Given the description of an element on the screen output the (x, y) to click on. 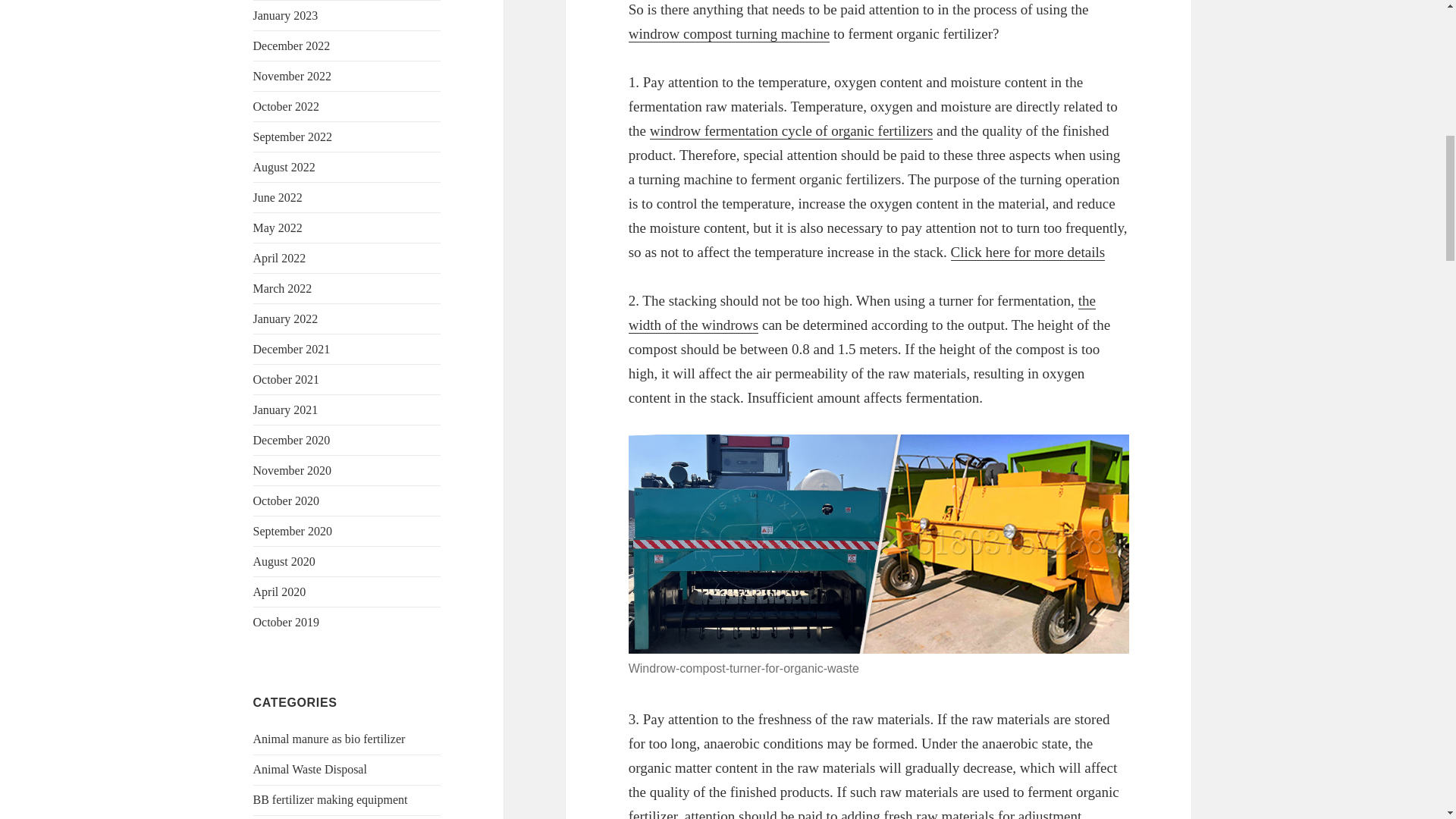
December 2022 (291, 45)
December 2021 (291, 349)
January 2023 (285, 15)
January 2021 (285, 409)
December 2020 (291, 440)
BB fertilizer making equipment (330, 799)
Animal manure as bio fertilizer (329, 738)
April 2020 (279, 591)
April 2022 (279, 257)
October 2022 (286, 106)
May 2022 (277, 227)
Animal Waste Disposal (309, 768)
November 2020 (292, 470)
October 2021 (286, 379)
October 2019 (286, 621)
